Given the description of an element on the screen output the (x, y) to click on. 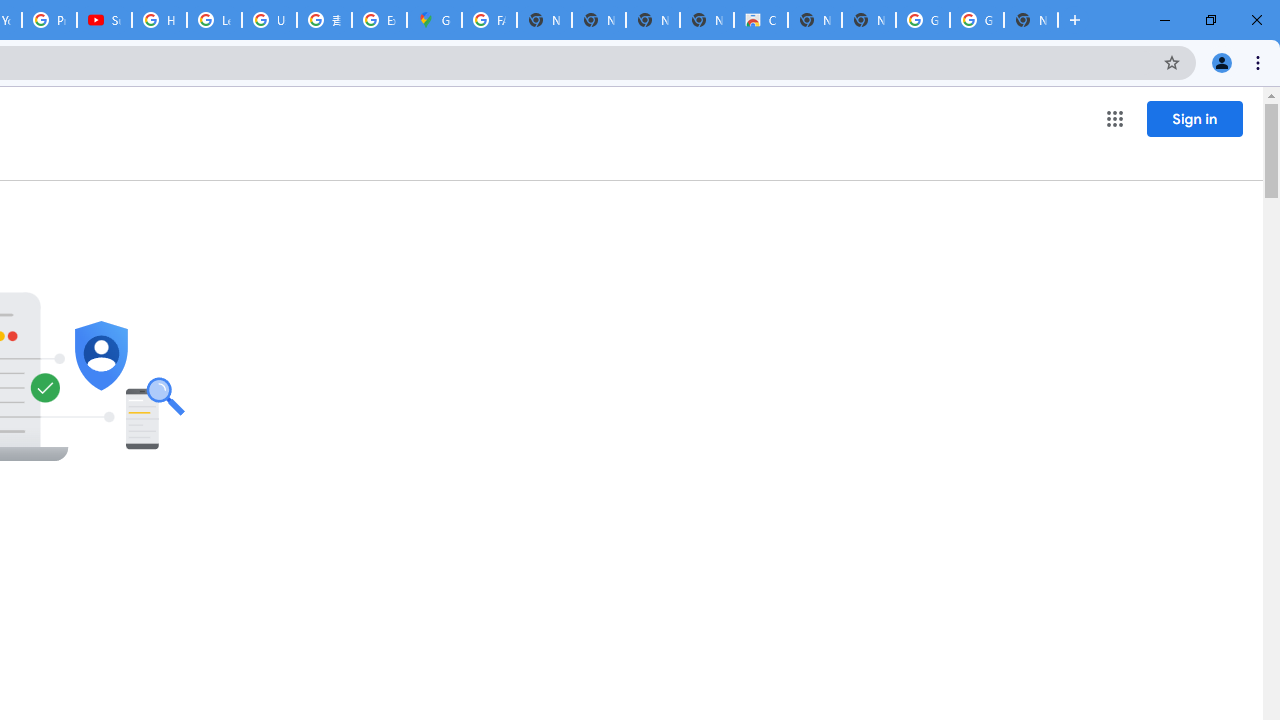
How Chrome protects your passwords - Google Chrome Help (158, 20)
Explore new street-level details - Google Maps Help (379, 20)
Subscriptions - YouTube (103, 20)
Google Images (976, 20)
New Tab (1030, 20)
Google Maps (434, 20)
